Given the description of an element on the screen output the (x, y) to click on. 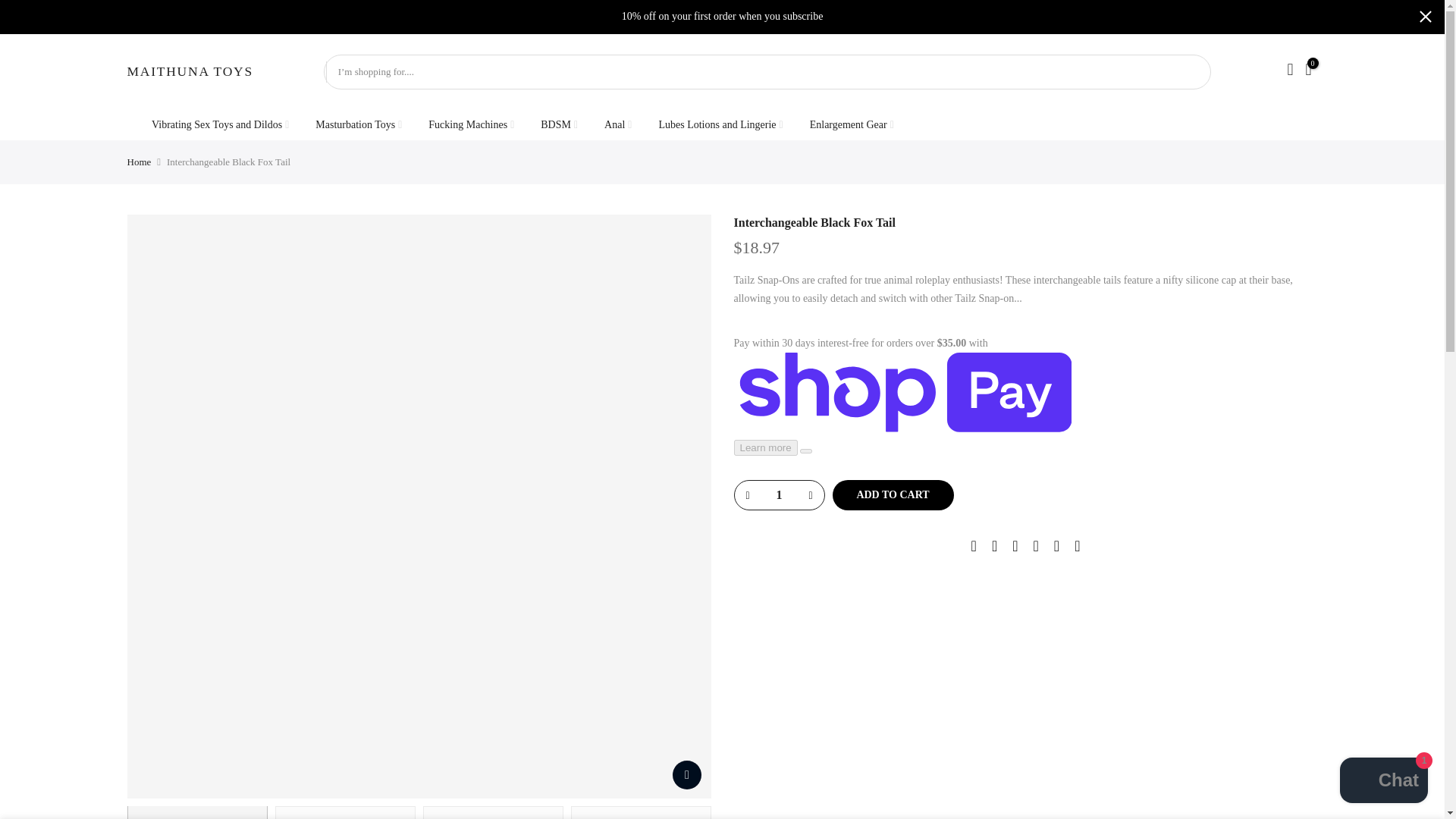
1 (778, 494)
BDSM (559, 123)
Anal (618, 123)
Lubes Lotions and Lingerie (720, 123)
Enlargement Gear (851, 123)
ADD TO CART (892, 494)
Home (139, 161)
Fucking Machines (470, 123)
Vibrating Sex Toys and Dildos (219, 123)
MAITHUNA TOYS (190, 71)
